Given the description of an element on the screen output the (x, y) to click on. 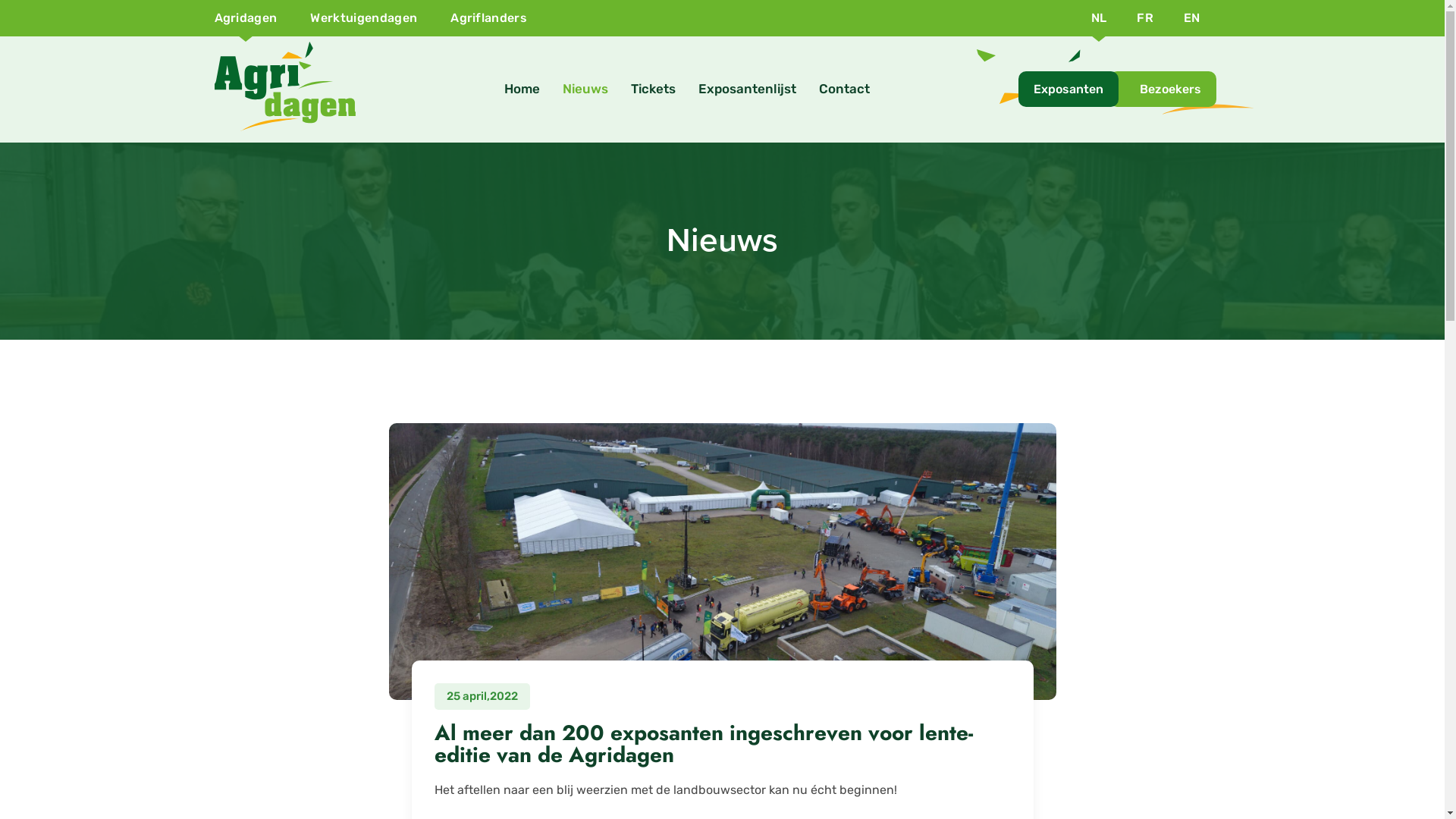
Home Element type: text (521, 88)
Contact Element type: text (843, 88)
Exposanten Element type: text (1067, 88)
Agridagen Element type: text (244, 18)
FR Element type: text (1144, 18)
Agriflanders Element type: text (488, 18)
Tickets Element type: text (652, 88)
Bezoekers Element type: text (1161, 88)
EN Element type: text (1191, 18)
Werktuigendagen Element type: text (363, 18)
Exposantenlijst Element type: text (747, 88)
NL Element type: text (1099, 18)
Nieuws Element type: text (584, 88)
